Given the description of an element on the screen output the (x, y) to click on. 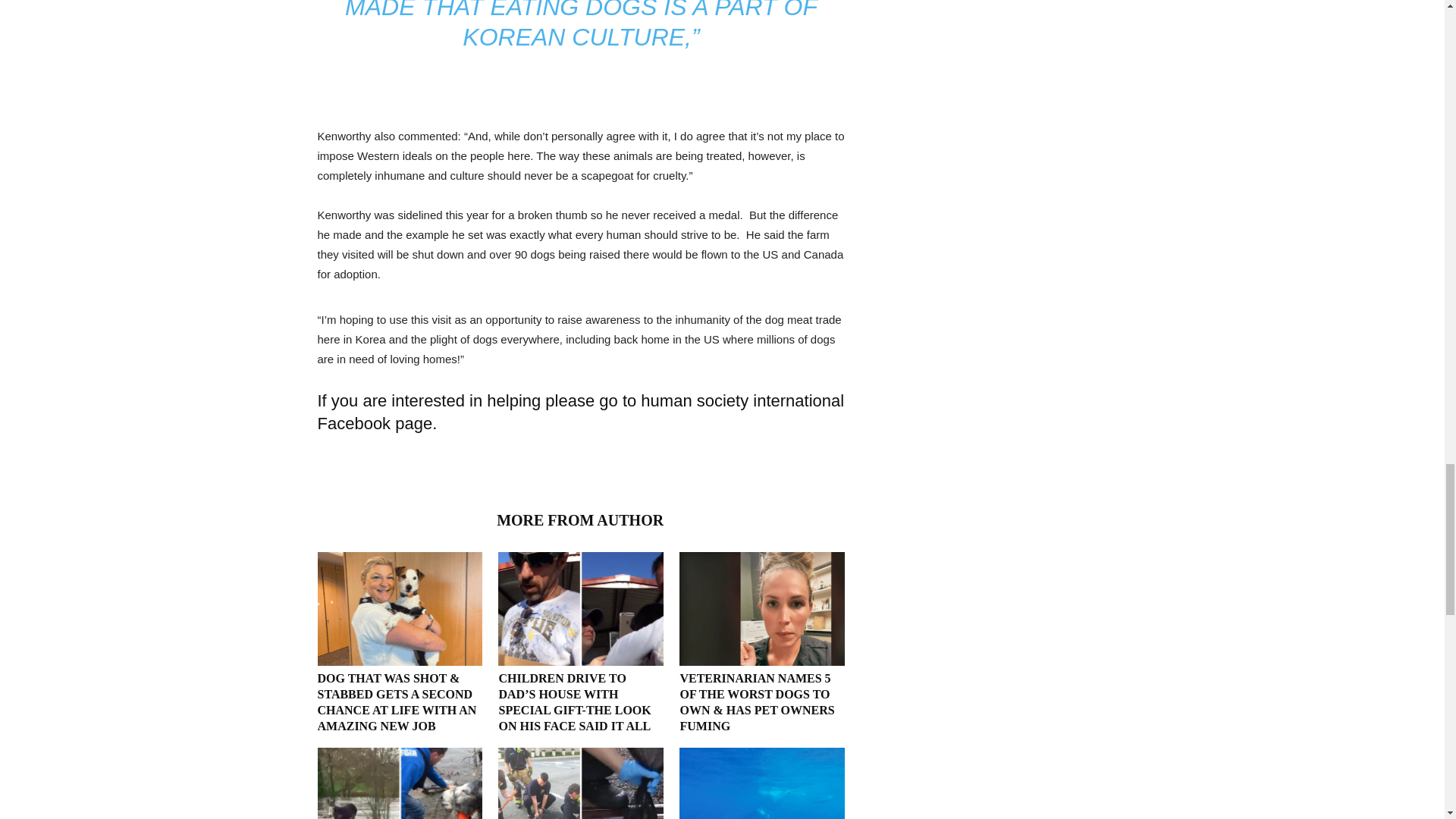
RELATED ARTICLES (402, 518)
human society international Facebook (580, 412)
MORE FROM AUTHOR (579, 518)
